Given the description of an element on the screen output the (x, y) to click on. 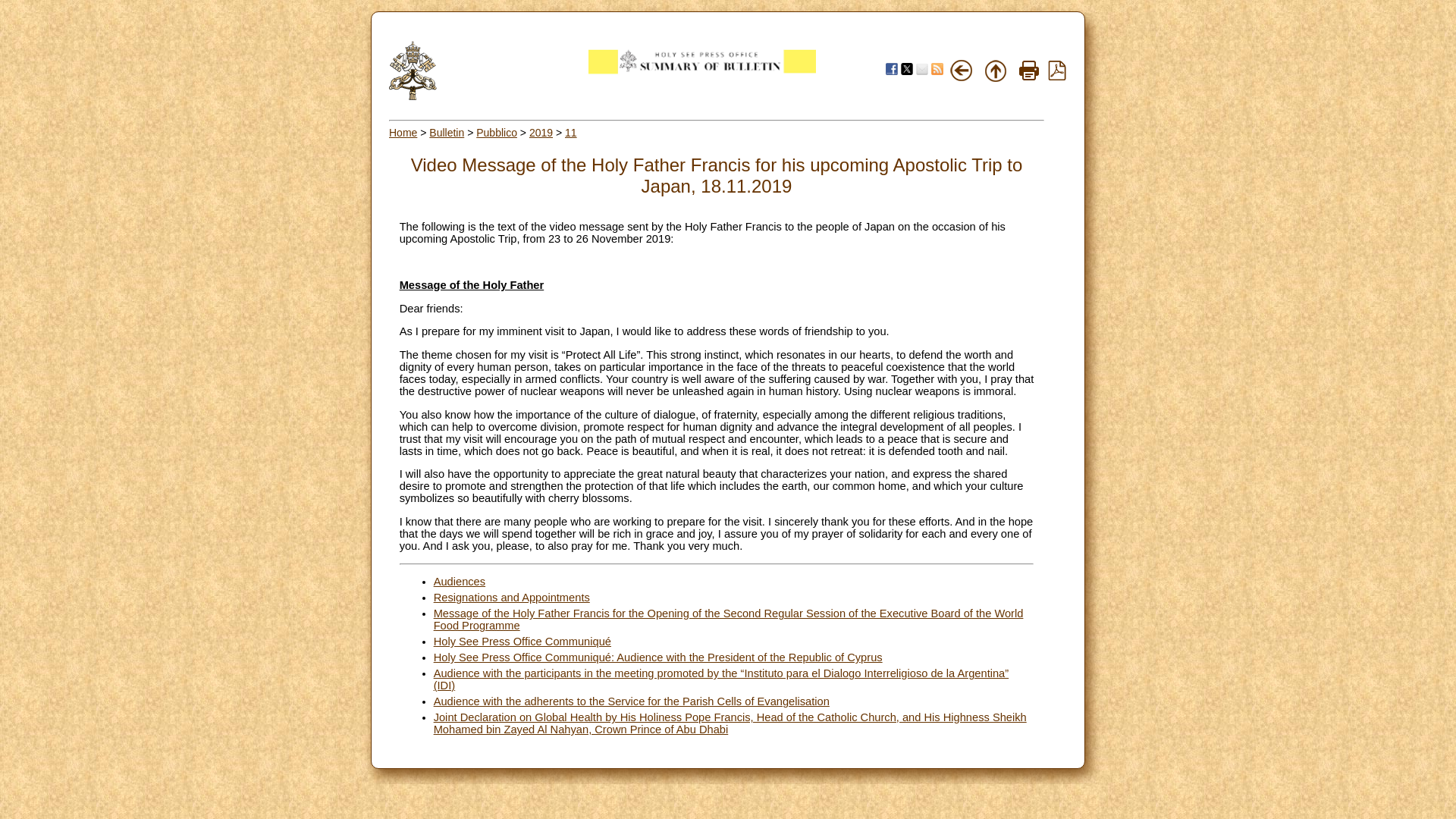
Pubblico (496, 132)
Print (1029, 70)
Audiences (458, 581)
2019 (541, 132)
Top (995, 70)
Home (402, 132)
RSS Feed (937, 69)
11 (570, 132)
Bulletin (446, 132)
Facebook (891, 69)
Pdf (1056, 70)
Mail (921, 69)
